Given the description of an element on the screen output the (x, y) to click on. 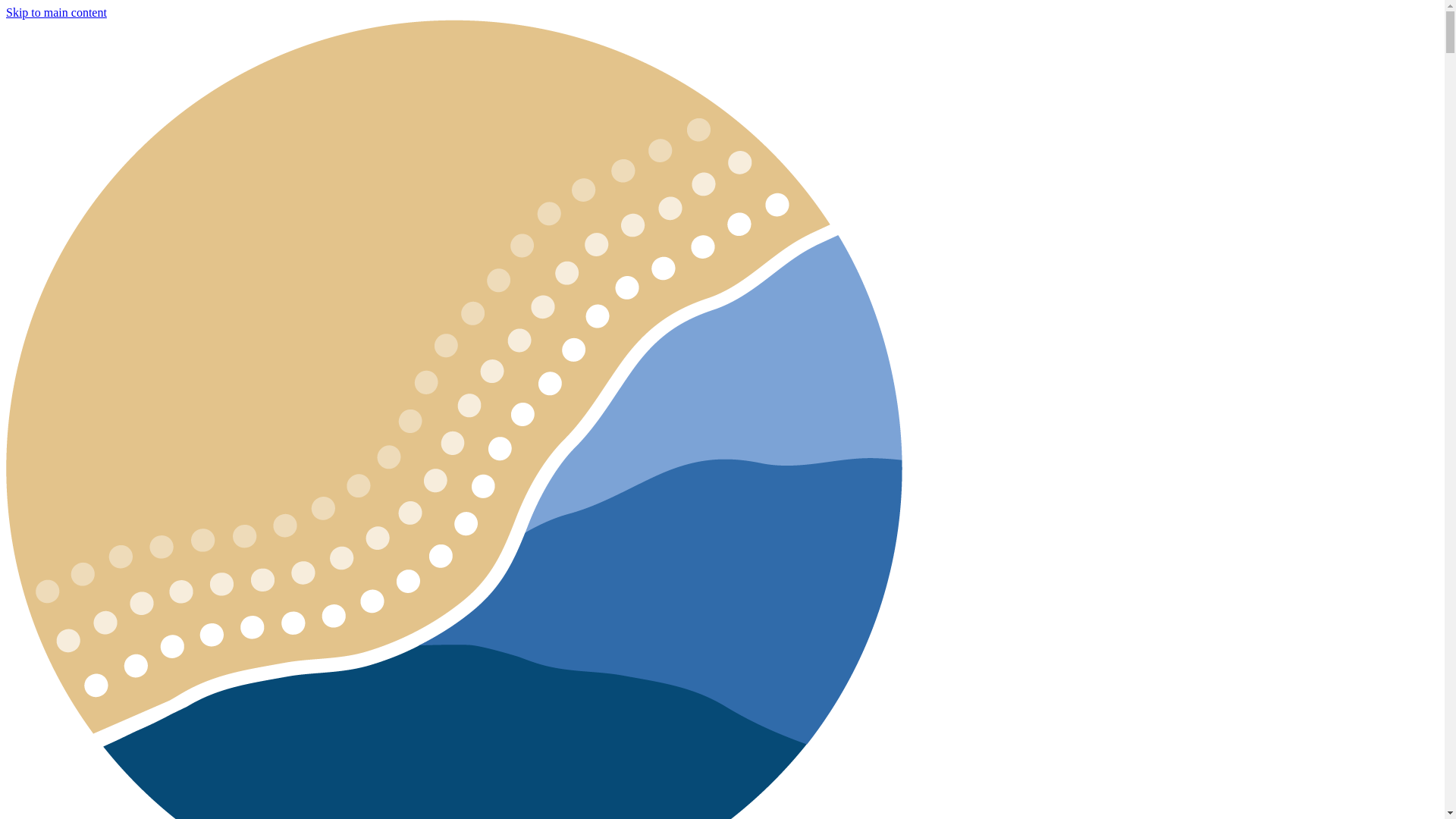
Skip to main content Element type: text (56, 12)
